Given the description of an element on the screen output the (x, y) to click on. 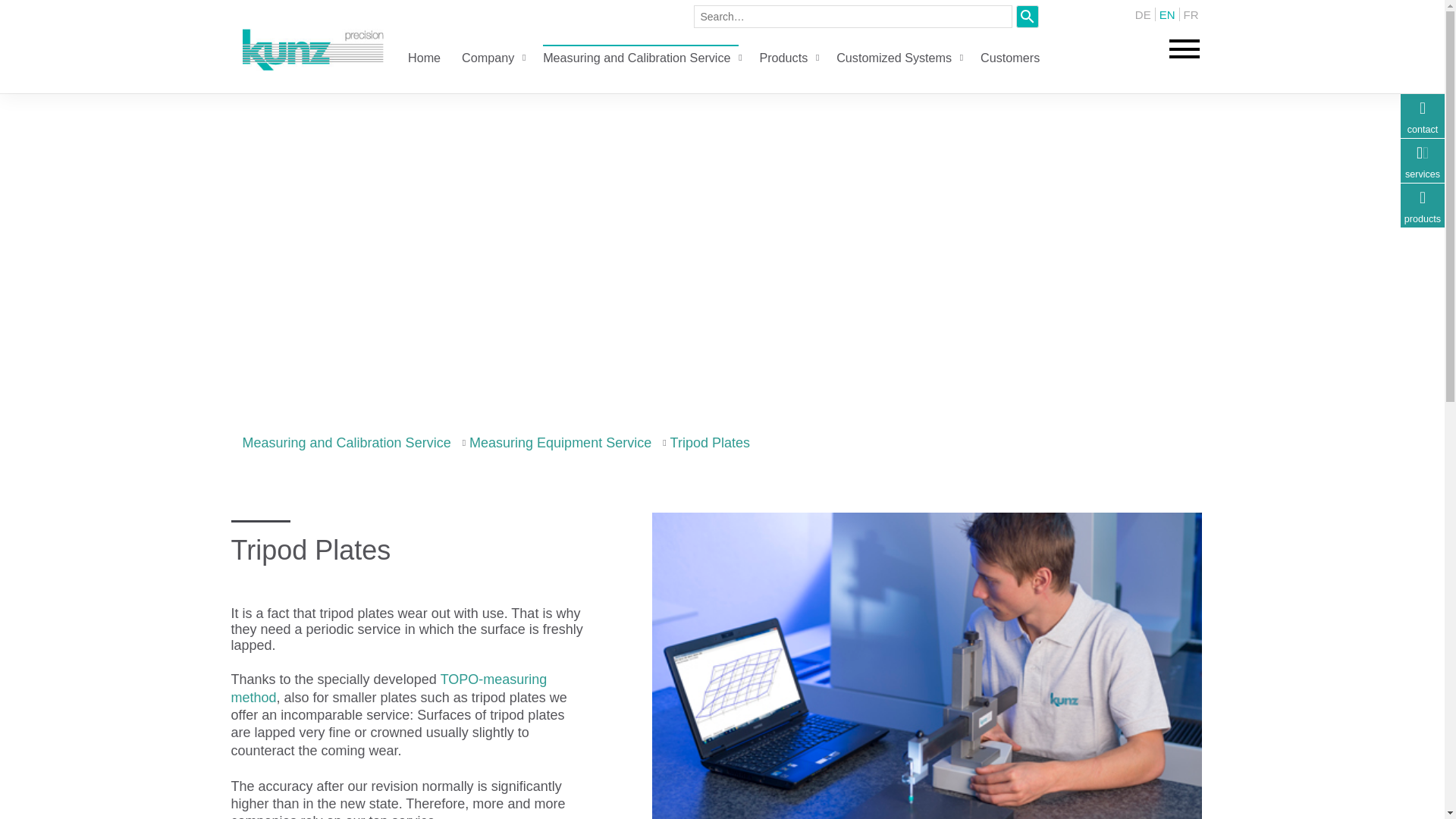
Company (487, 57)
FR (1190, 14)
DE (1143, 14)
Measuring and Calibration Service (636, 57)
EN (1166, 14)
FR (1190, 14)
Measuring and Calibration Service (636, 57)
Search (1027, 15)
Home (424, 57)
Home (424, 57)
Company (487, 57)
DE (1143, 14)
EN (1166, 14)
